Given the description of an element on the screen output the (x, y) to click on. 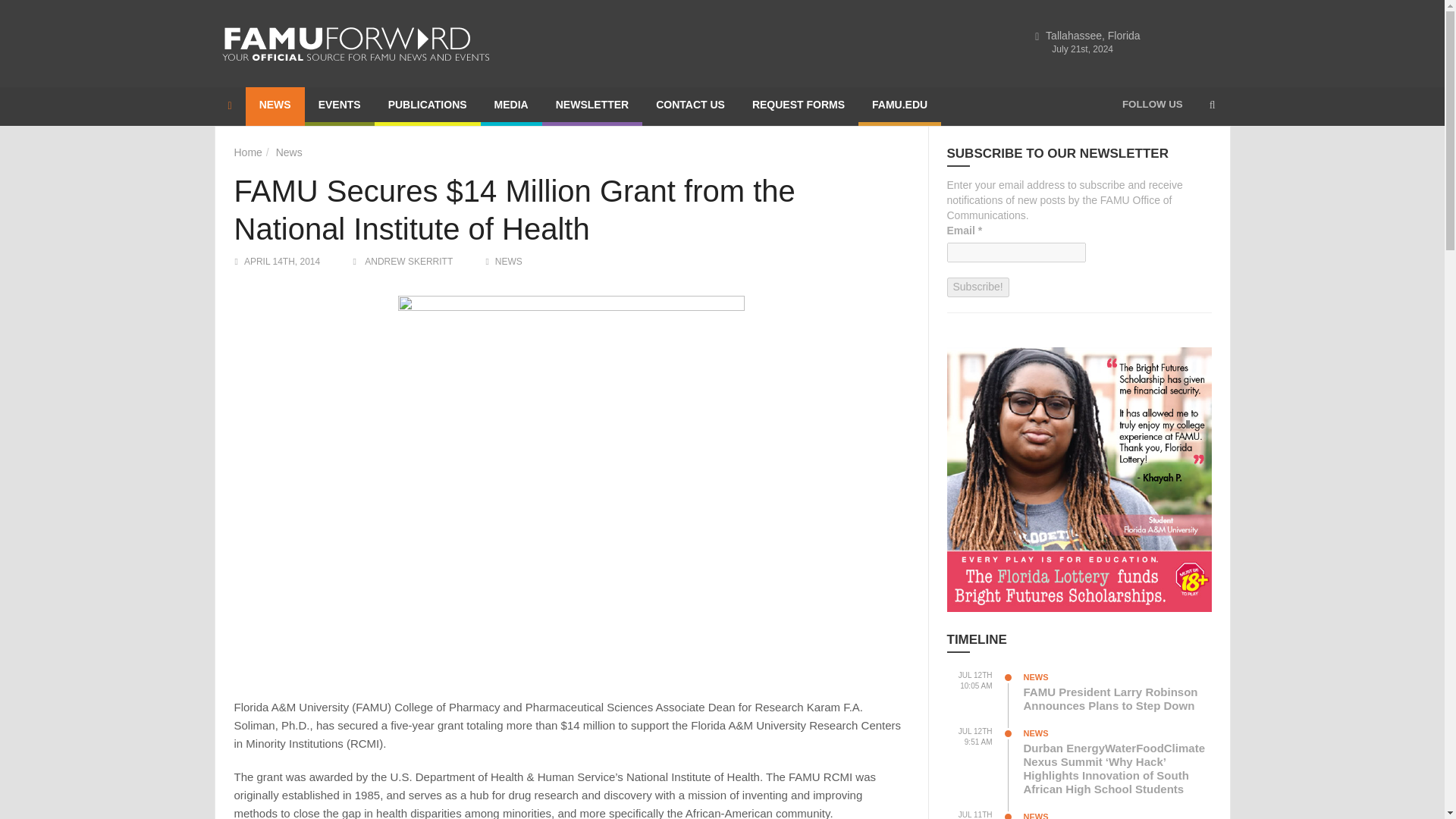
View all posts in News (508, 261)
Email (1015, 252)
Subscribe! (977, 287)
Request Form (798, 106)
News (289, 152)
